Given the description of an element on the screen output the (x, y) to click on. 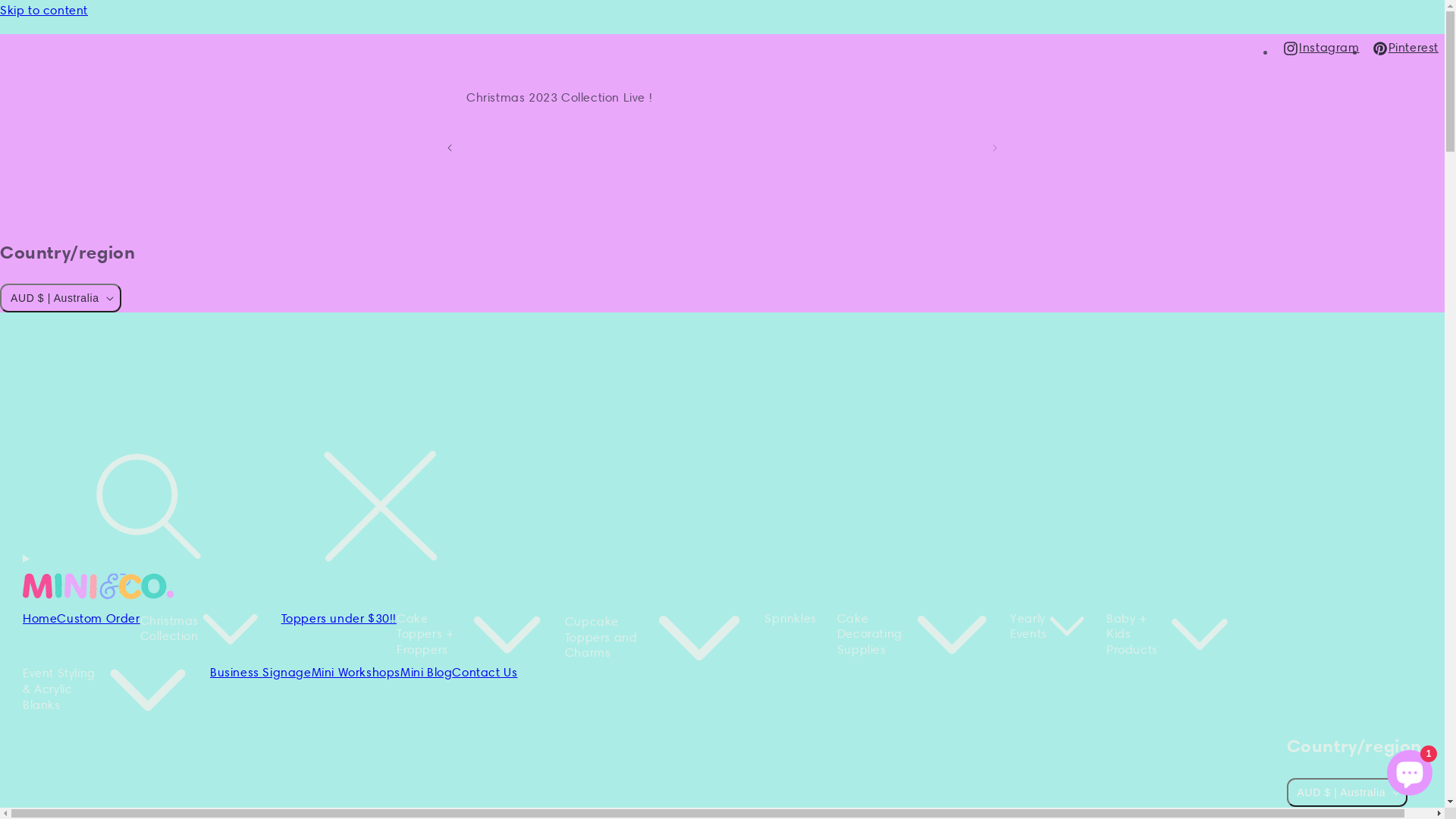
Toppers under $30!! Element type: text (338, 619)
Contact Us Element type: text (484, 672)
Instagram Element type: text (1320, 48)
Business Signage Element type: text (260, 672)
Custom Order Element type: text (97, 619)
Mini Blog Element type: text (425, 672)
Skip to content Element type: text (722, 10)
Mini Workshops Element type: text (355, 672)
AUD $ | Australia Element type: text (60, 297)
Home Element type: text (39, 619)
Shopify online store chat Element type: hover (1409, 769)
Pinterest Element type: text (1404, 48)
AUD $ | Australia Element type: text (1347, 792)
